Given the description of an element on the screen output the (x, y) to click on. 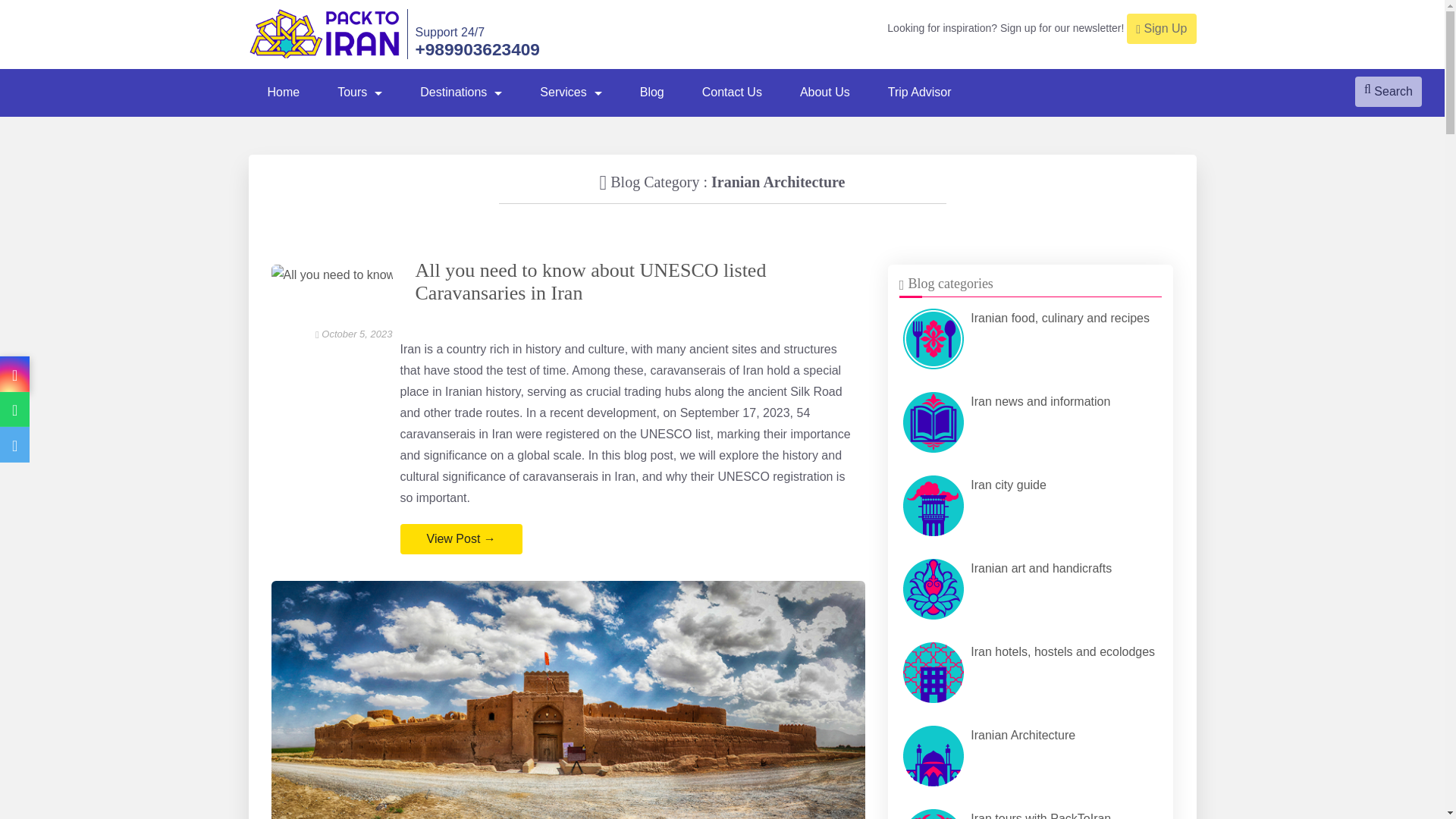
Iran hotels, hostels and ecolodges (932, 672)
Sign Up (1160, 28)
Iranian art and handicrafts (932, 588)
Iranian Architecture (1030, 755)
Iranian food, culinary and recipes (1030, 338)
Iran tours with PackToIran (932, 814)
Iran hotels, hostels and ecolodges (1030, 672)
Iran news and information (1030, 422)
Iran city guide (1030, 505)
Home (283, 92)
Iran news and information (932, 422)
Iran city guide (932, 505)
Iranian art and handicrafts (1030, 589)
Iranian Architecture (932, 755)
Tours (359, 92)
